Given the description of an element on the screen output the (x, y) to click on. 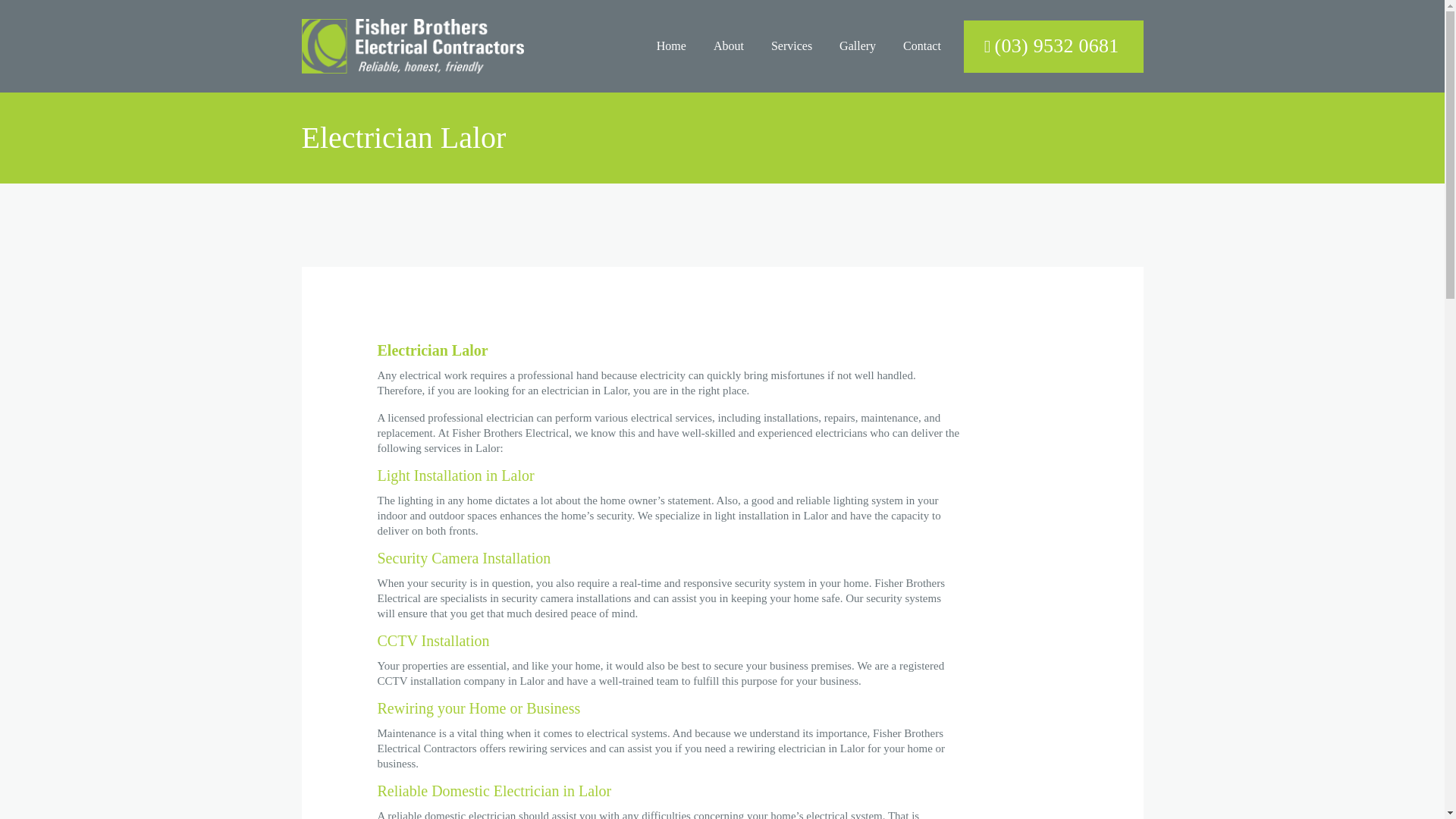
About (728, 46)
Services (791, 46)
Contact (921, 46)
Gallery (857, 46)
Home (671, 46)
